Given the description of an element on the screen output the (x, y) to click on. 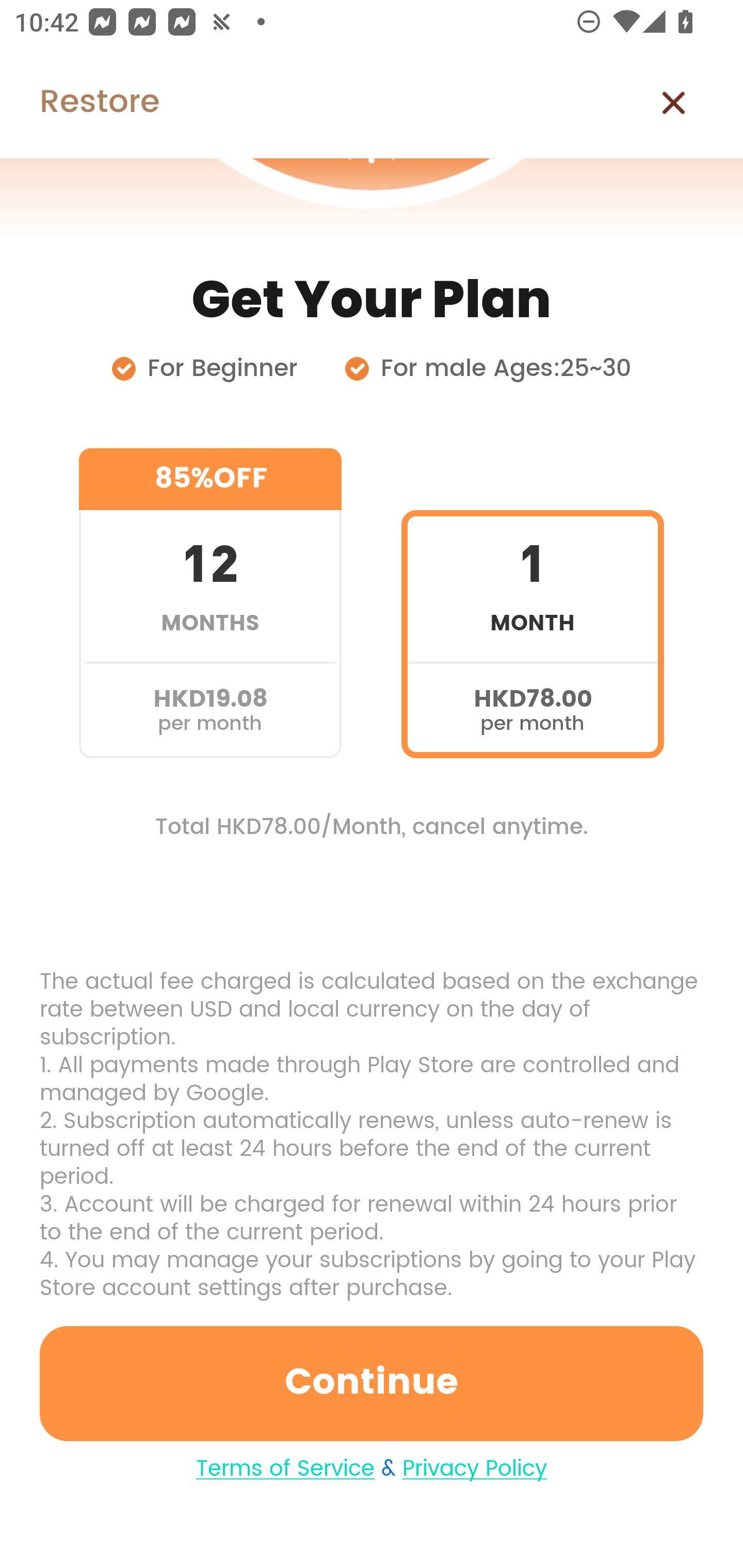
Restore (79, 102)
85%OFF 12 MONTHS per month HKD19.08 (209, 603)
1 MONTH per month HKD78.00 (532, 603)
Continue (371, 1383)
